Given the description of an element on the screen output the (x, y) to click on. 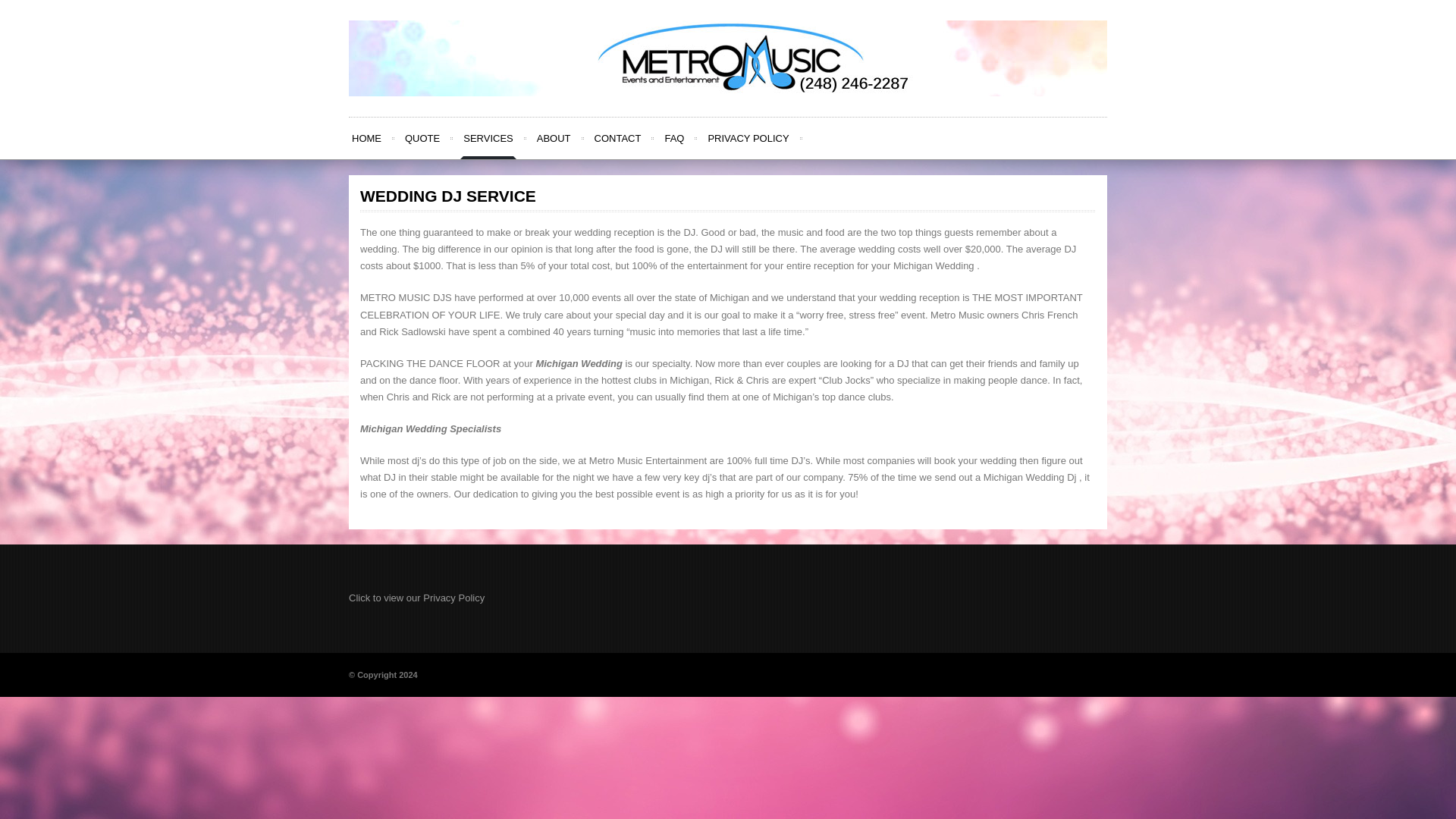
Click to view our Privacy Policy (416, 597)
QUOTE (421, 137)
CONTACT (618, 137)
Metro Music Entertainment  ---  248-246-2287 (727, 58)
SERVICES (488, 137)
PRIVACY POLICY (748, 137)
ABOUT (553, 137)
